Given the description of an element on the screen output the (x, y) to click on. 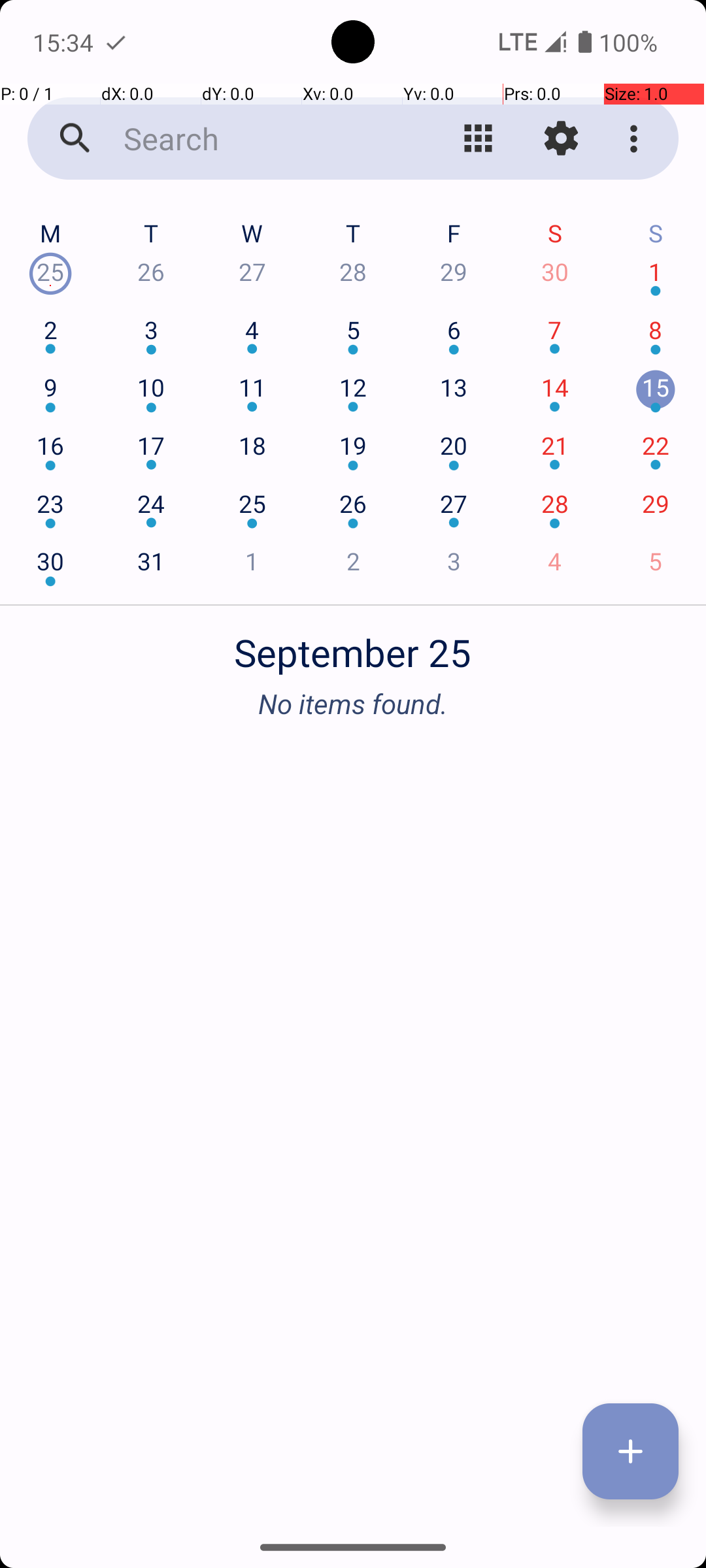
September 25 Element type: android.widget.TextView (352, 644)
